Given the description of an element on the screen output the (x, y) to click on. 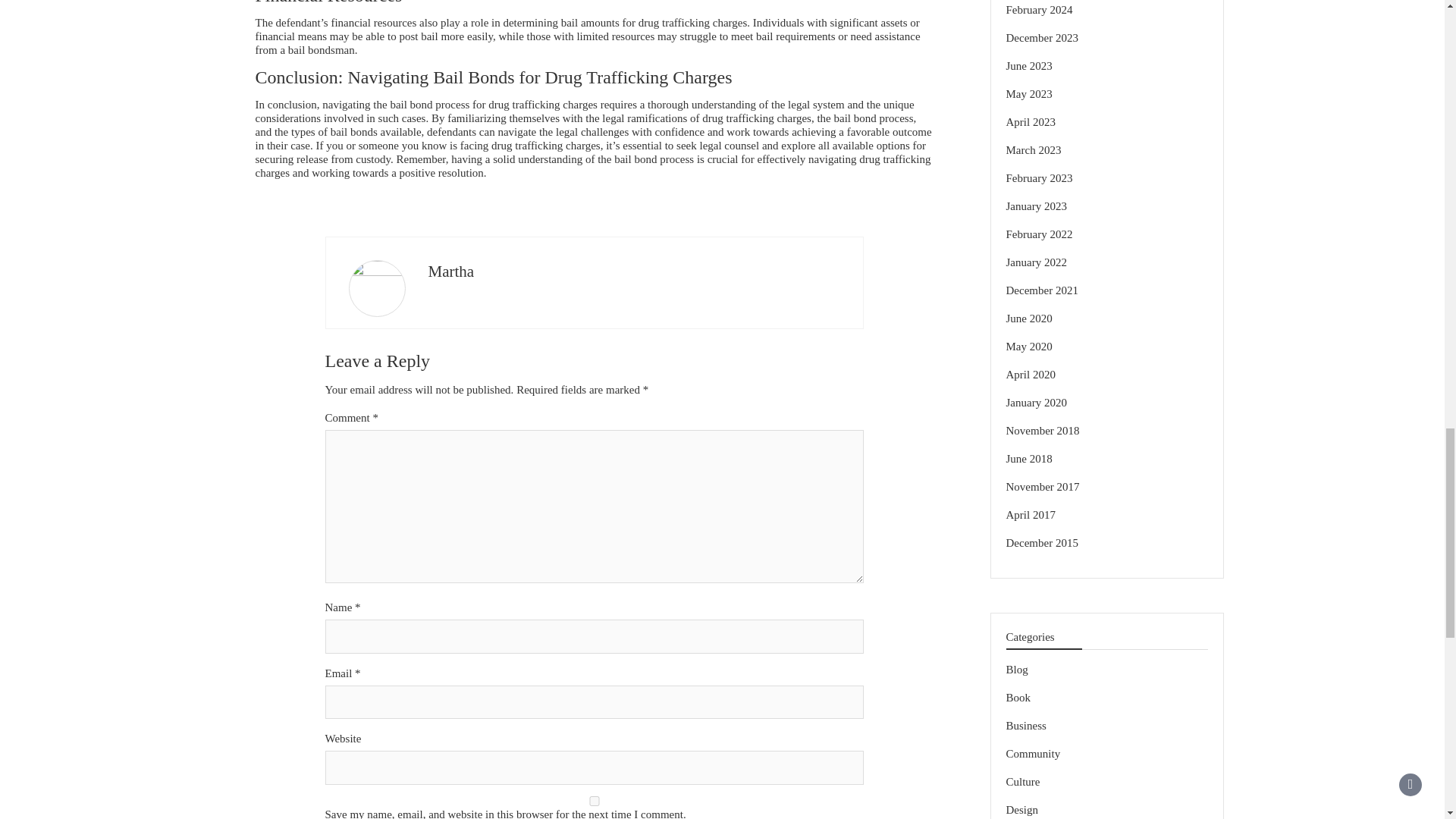
Martha (451, 271)
yes (593, 800)
